Given the description of an element on the screen output the (x, y) to click on. 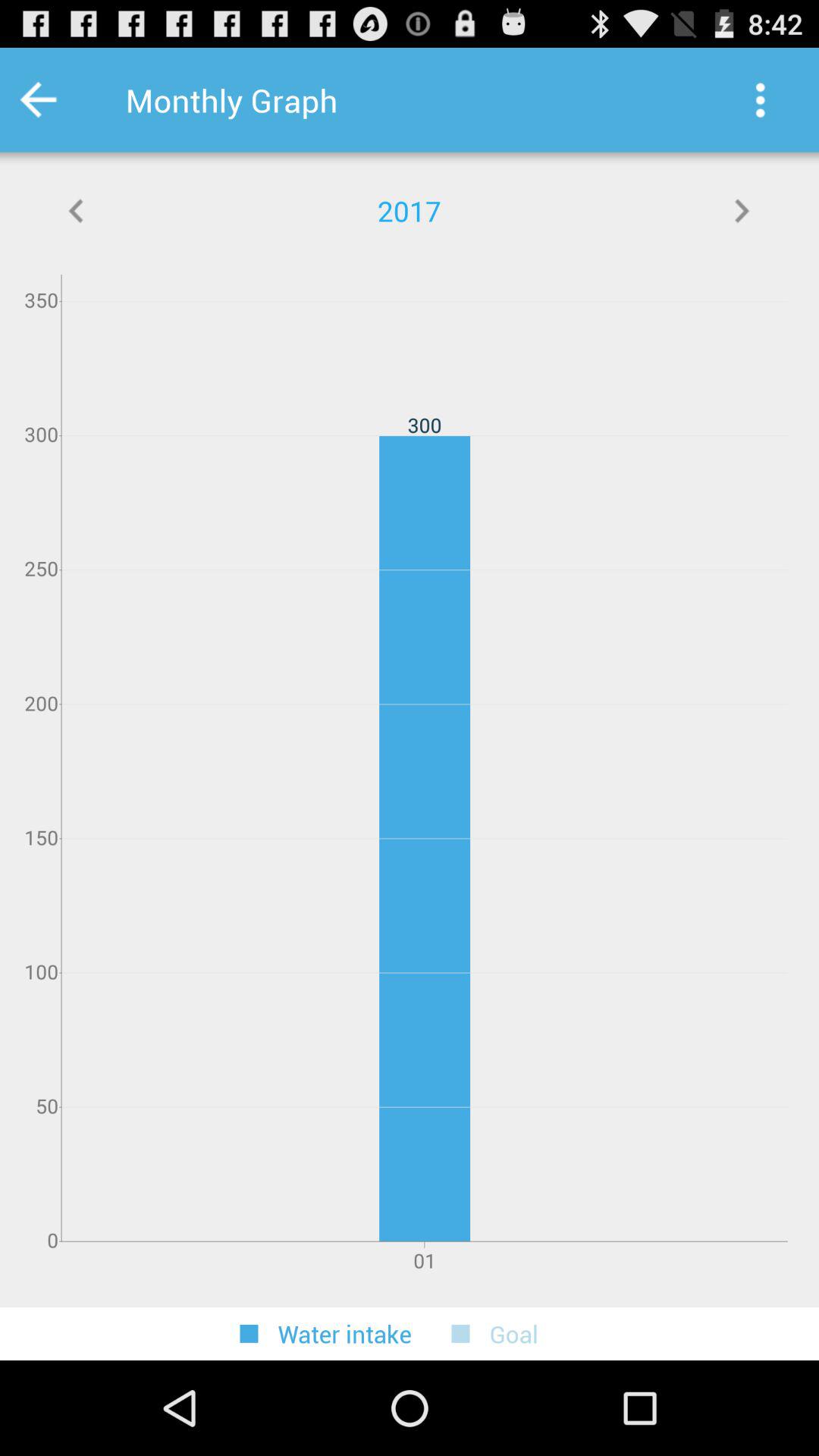
go to setting (760, 100)
